Given the description of an element on the screen output the (x, y) to click on. 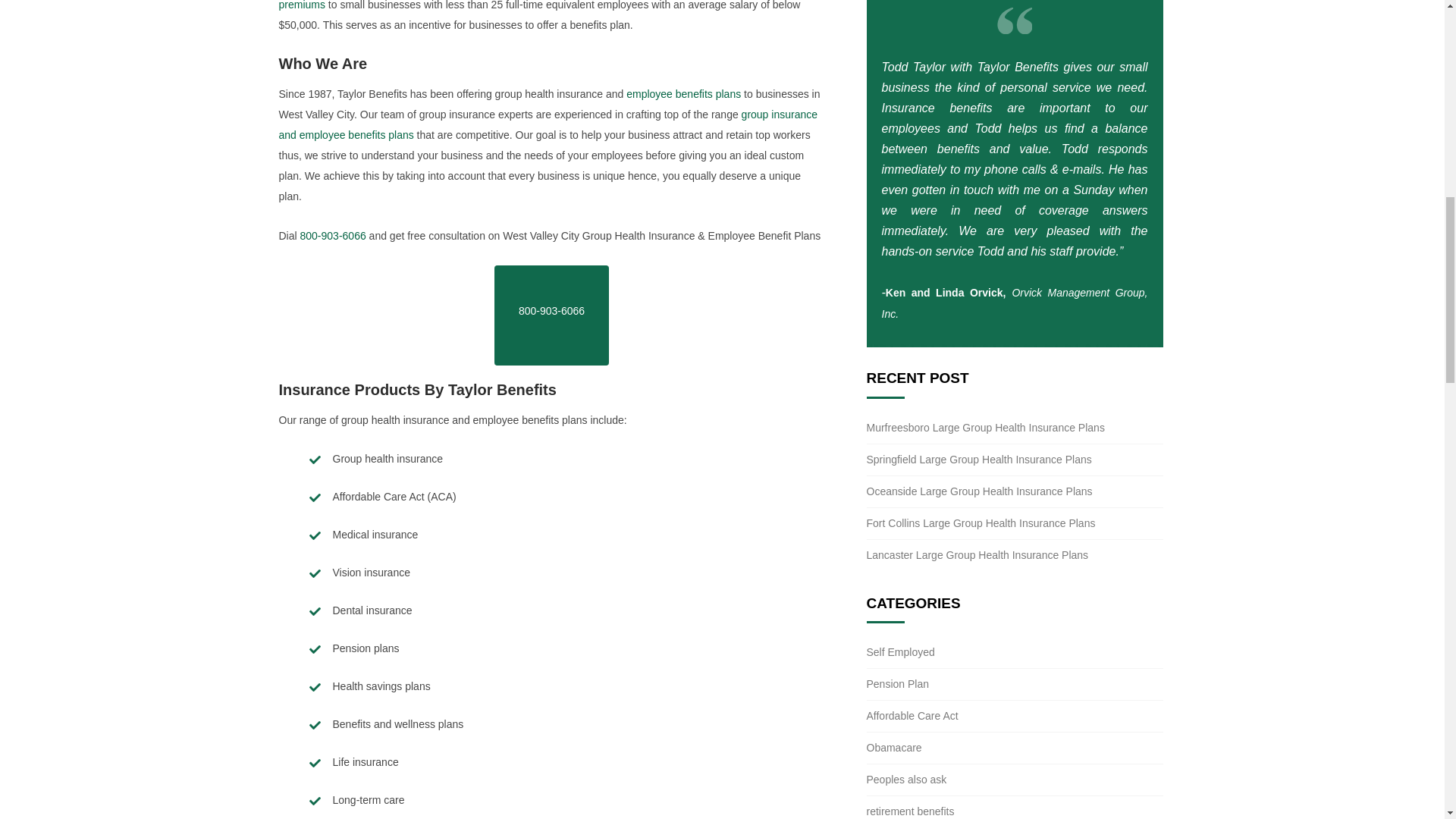
Lancaster Large Group Health Insurance Plans (976, 554)
Murfreesboro Large Group Health Insurance Plans (984, 427)
Pension Plan (897, 684)
800-903-6066 (551, 315)
group insurance and employee benefits plans (548, 124)
Springfield Large Group Health Insurance Plans (978, 459)
Self Employed (900, 652)
Affordable Care Act (912, 715)
Fort Collins Large Group Health Insurance Plans (980, 522)
Oceanside Large Group Health Insurance Plans (979, 491)
800-903-6066 (332, 235)
employee benefits plans (683, 93)
